Given the description of an element on the screen output the (x, y) to click on. 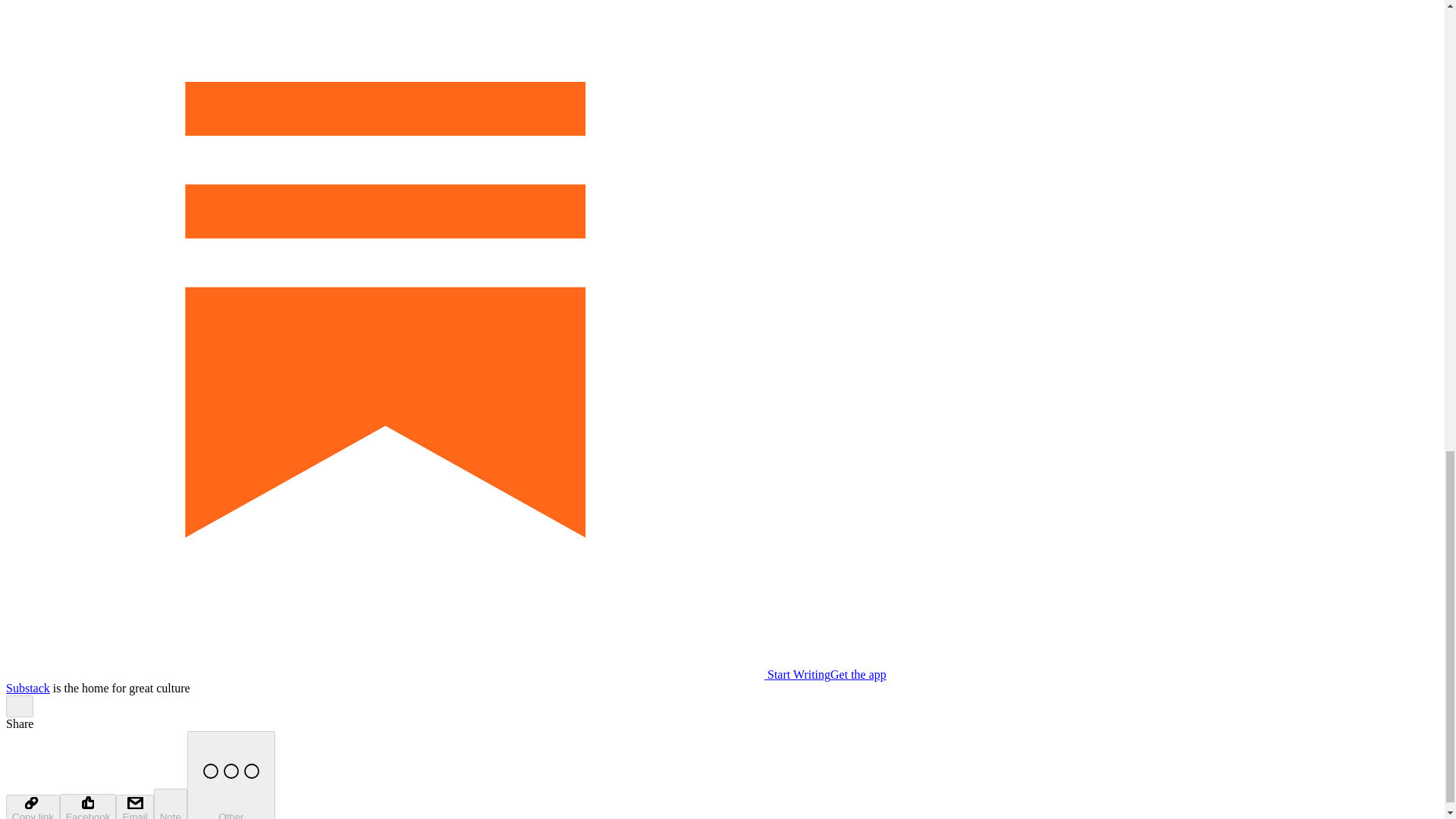
Substack (27, 687)
Start Writing (417, 674)
Get the app (857, 674)
